Given the description of an element on the screen output the (x, y) to click on. 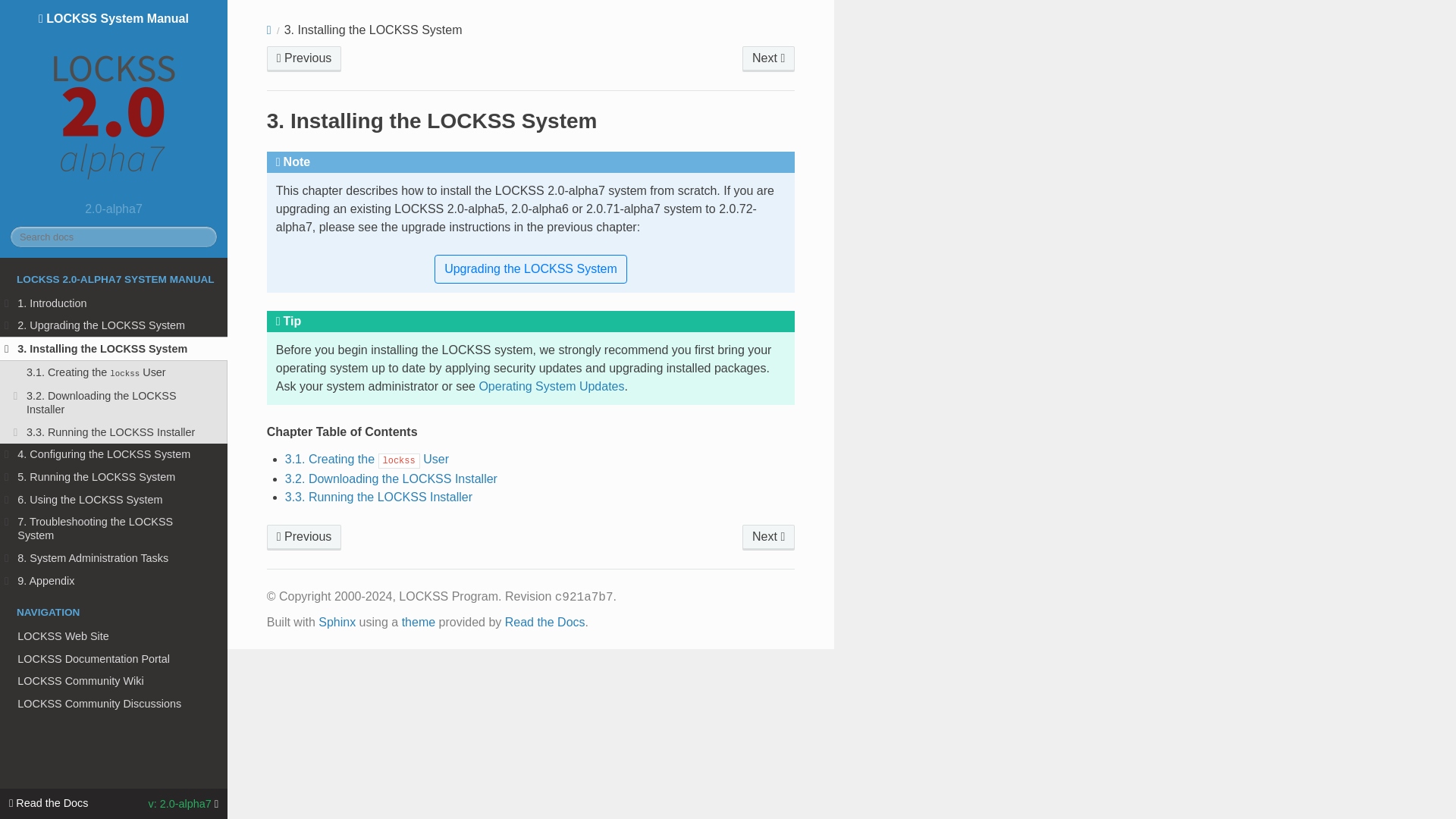
3.3. Running the LOCKSS Installer (113, 431)
1. Introduction (113, 302)
3. Installing the LOCKSS System (113, 348)
3.1. Creating the lockss User (113, 372)
3.2. Downloading the LOCKSS Installer (113, 402)
2. Upgrading the LOCKSS System (113, 324)
LOCKSS System Manual (113, 103)
